Given the description of an element on the screen output the (x, y) to click on. 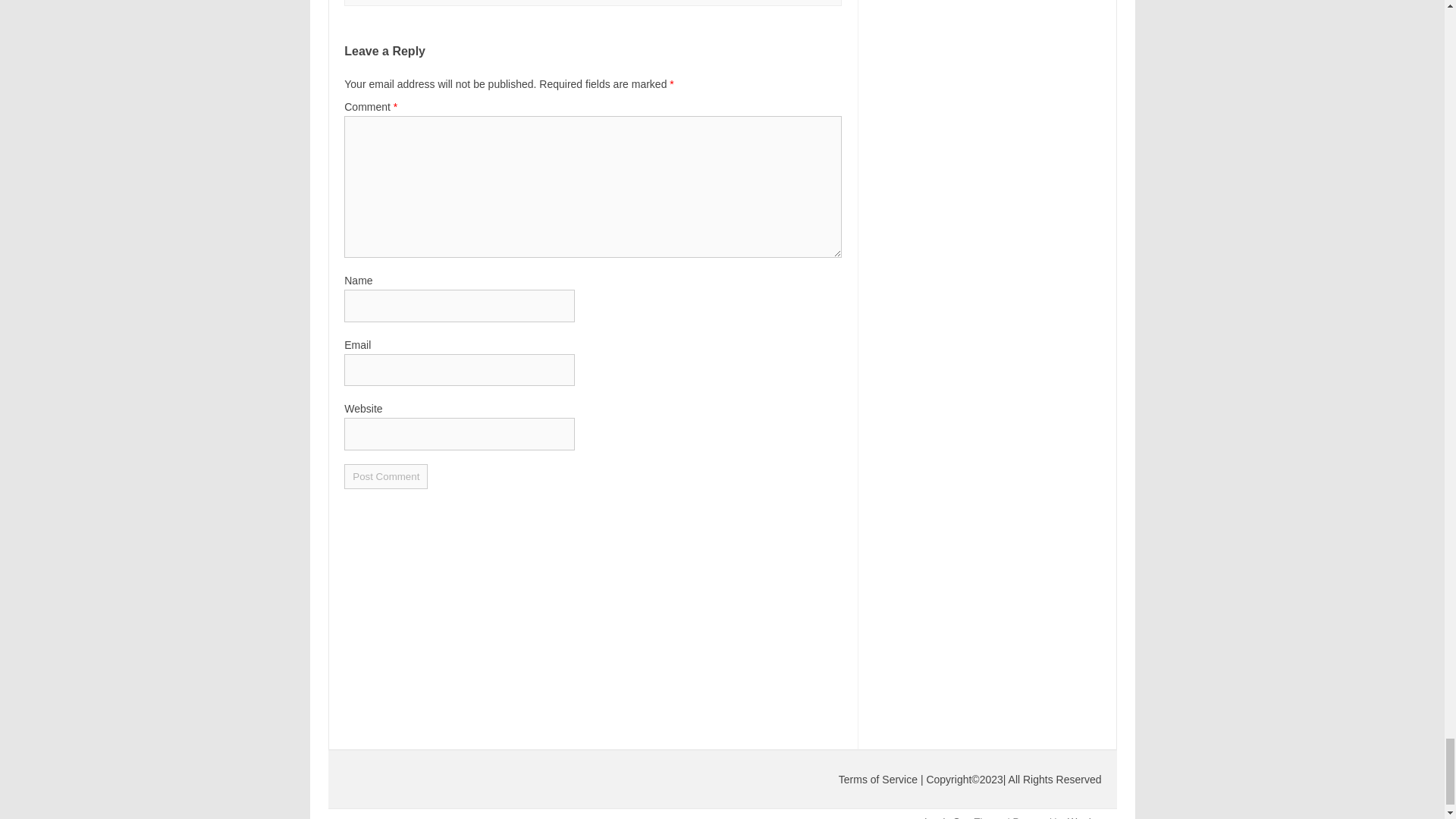
Post Comment (385, 476)
